Given the description of an element on the screen output the (x, y) to click on. 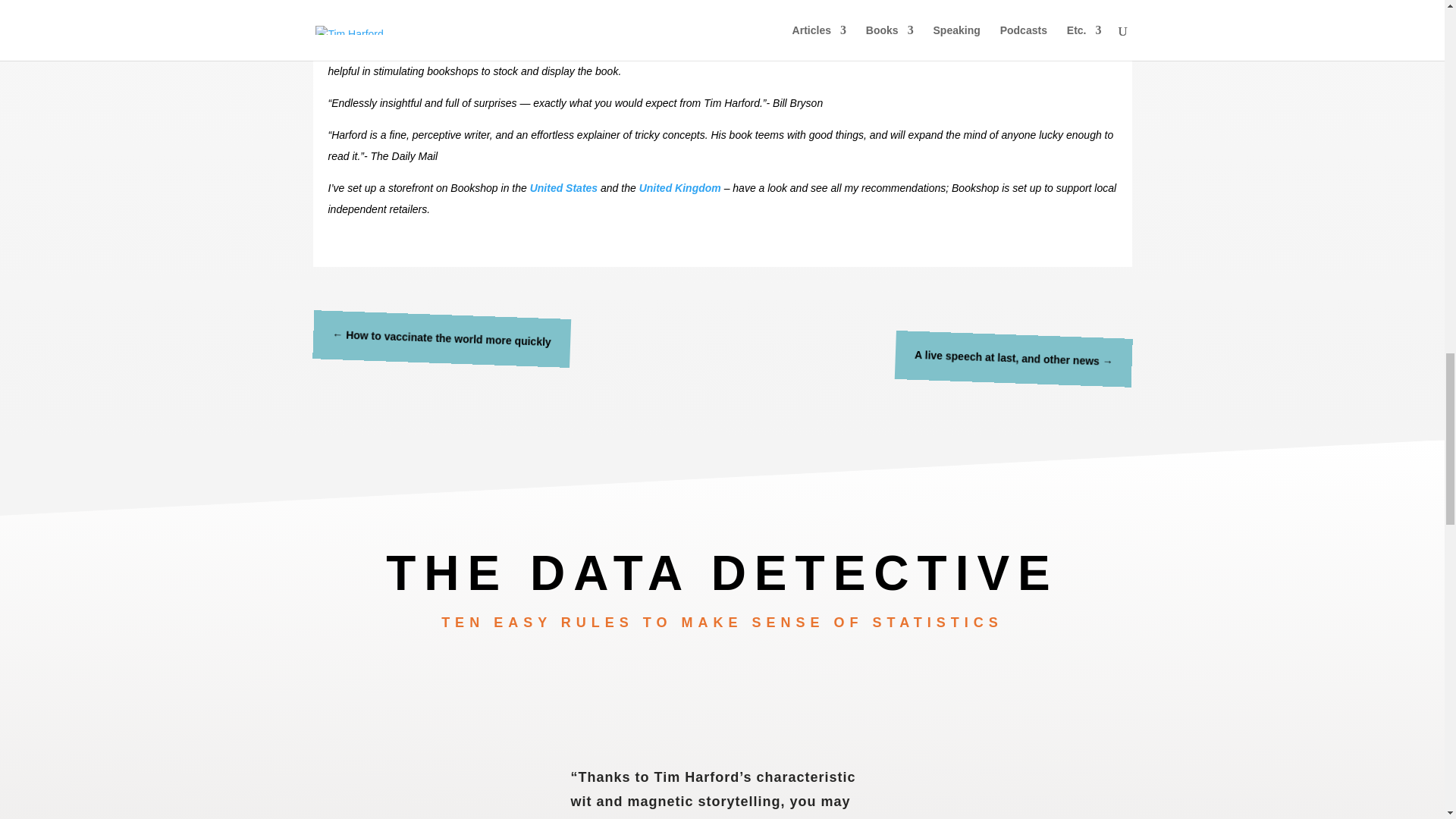
Financial Times (537, 18)
United States (562, 187)
United Kingdom (679, 187)
